Given the description of an element on the screen output the (x, y) to click on. 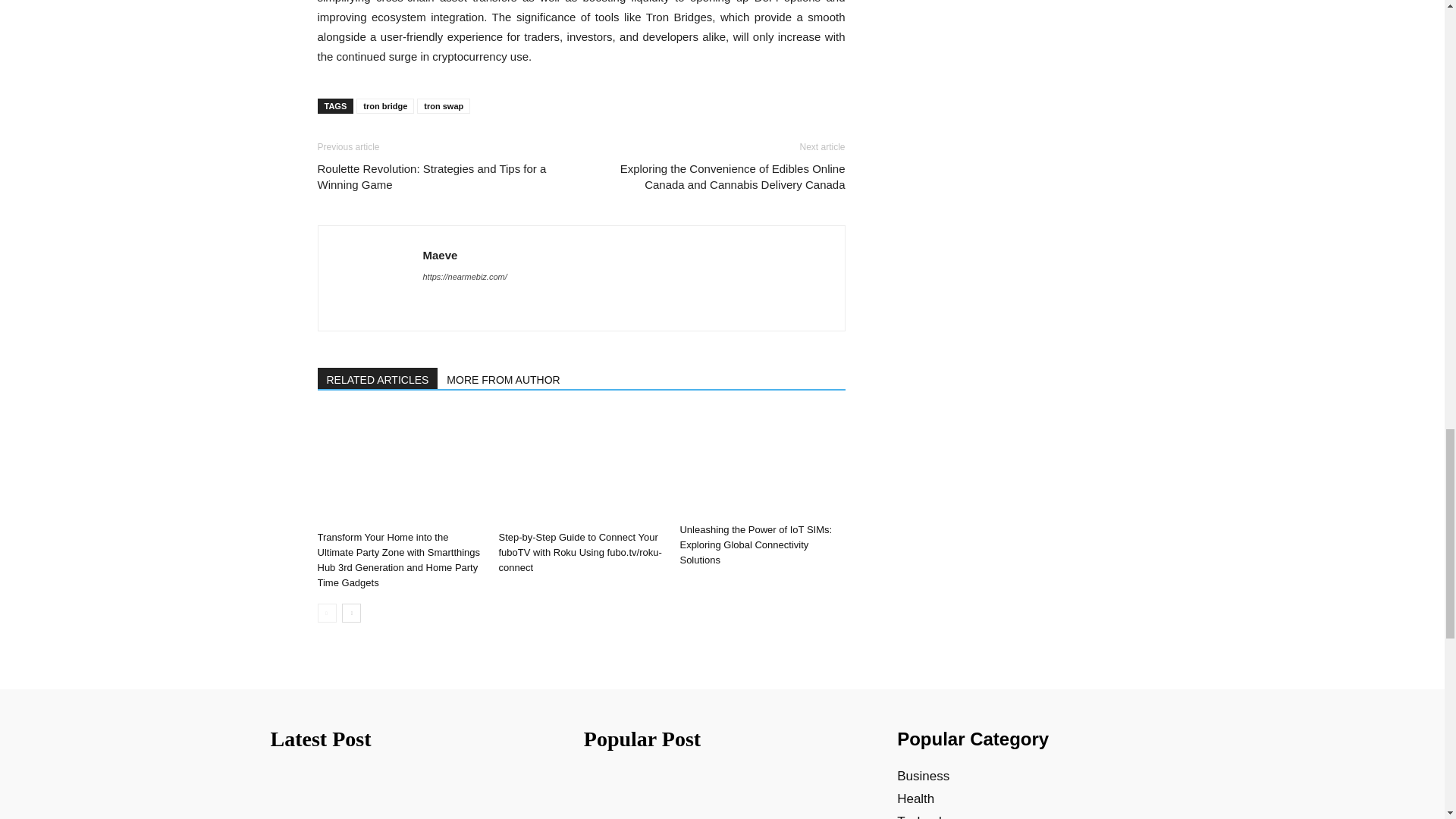
Maeve (440, 254)
tron swap (443, 105)
RELATED ARTICLES (377, 378)
MORE FROM AUTHOR (503, 378)
tron bridge (384, 105)
Roulette Revolution: Strategies and Tips for a Winning Game (439, 176)
